Given the description of an element on the screen output the (x, y) to click on. 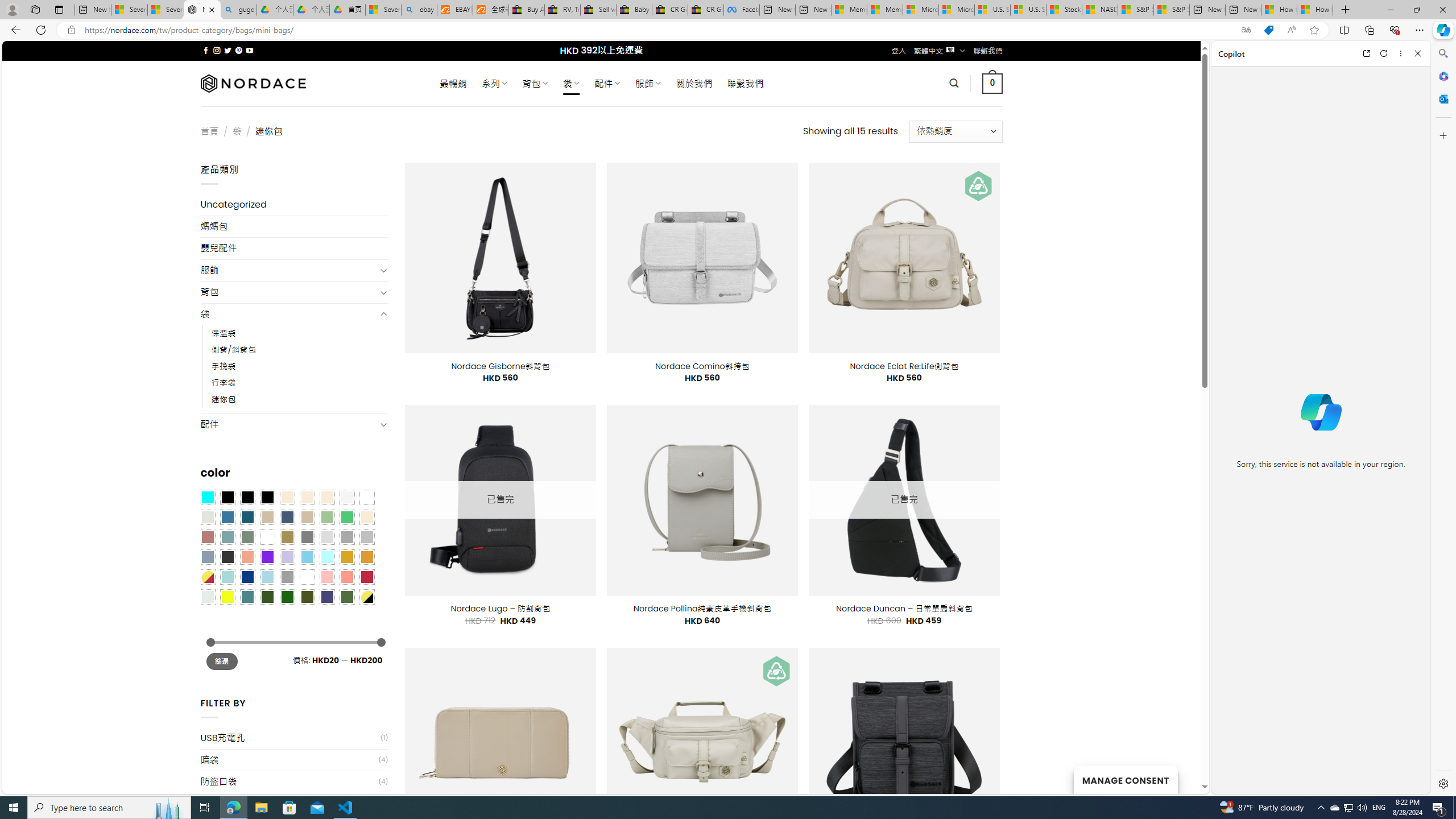
View site information (70, 29)
Show translate options (1245, 29)
Address and search bar (658, 29)
More options (1401, 53)
New tab (1243, 9)
